Given the description of an element on the screen output the (x, y) to click on. 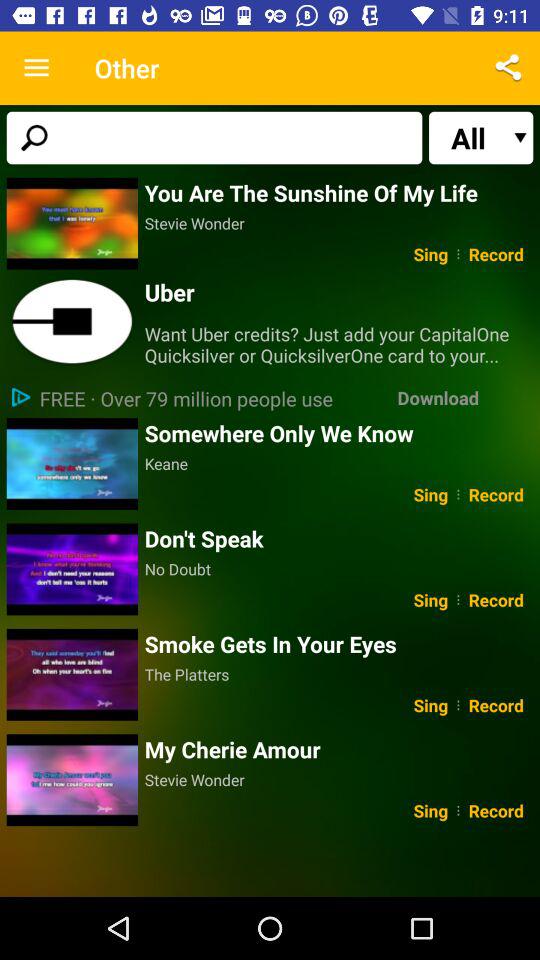
where you want to search (214, 137)
